Given the description of an element on the screen output the (x, y) to click on. 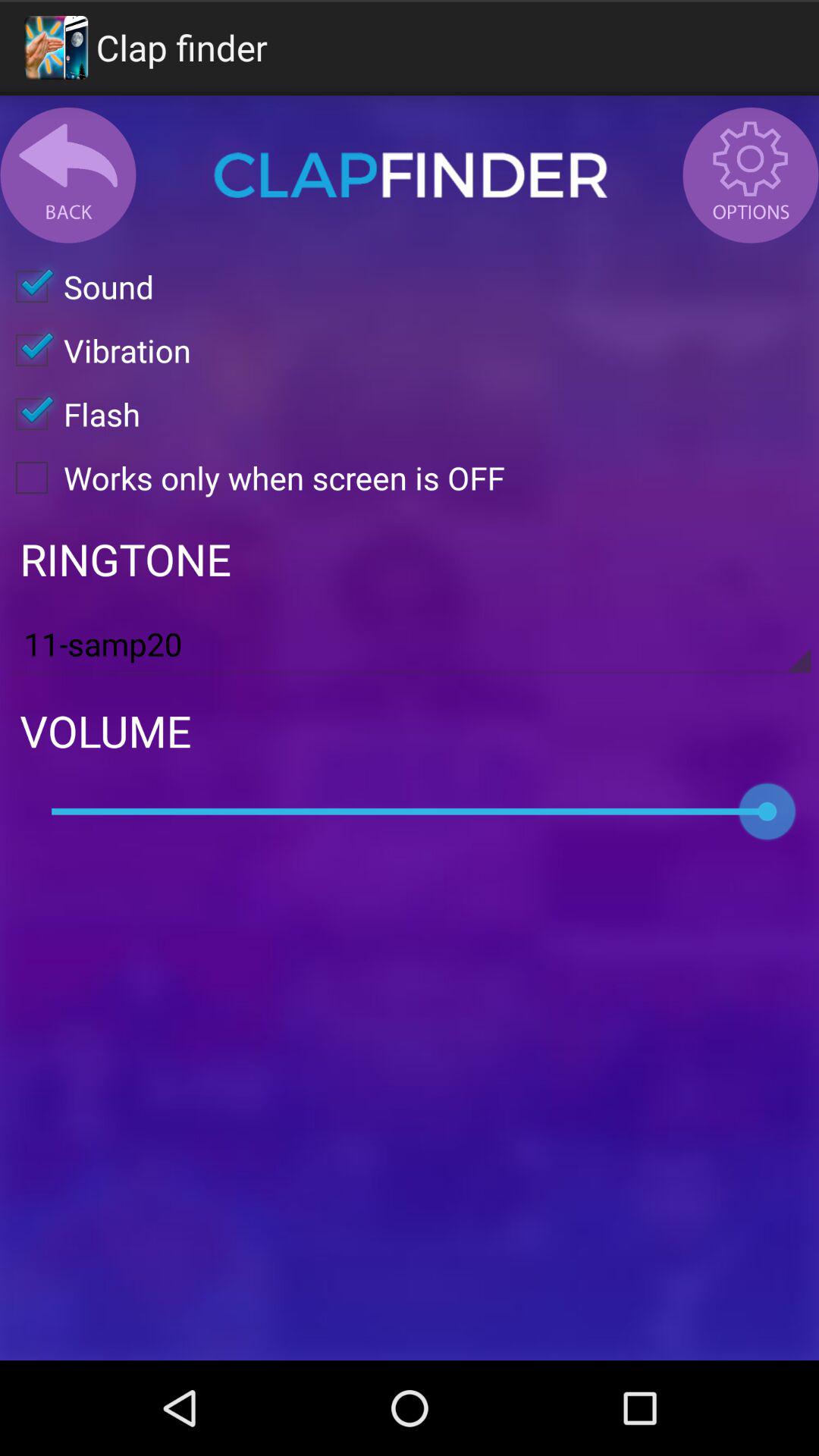
flip until flash item (70, 413)
